Given the description of an element on the screen output the (x, y) to click on. 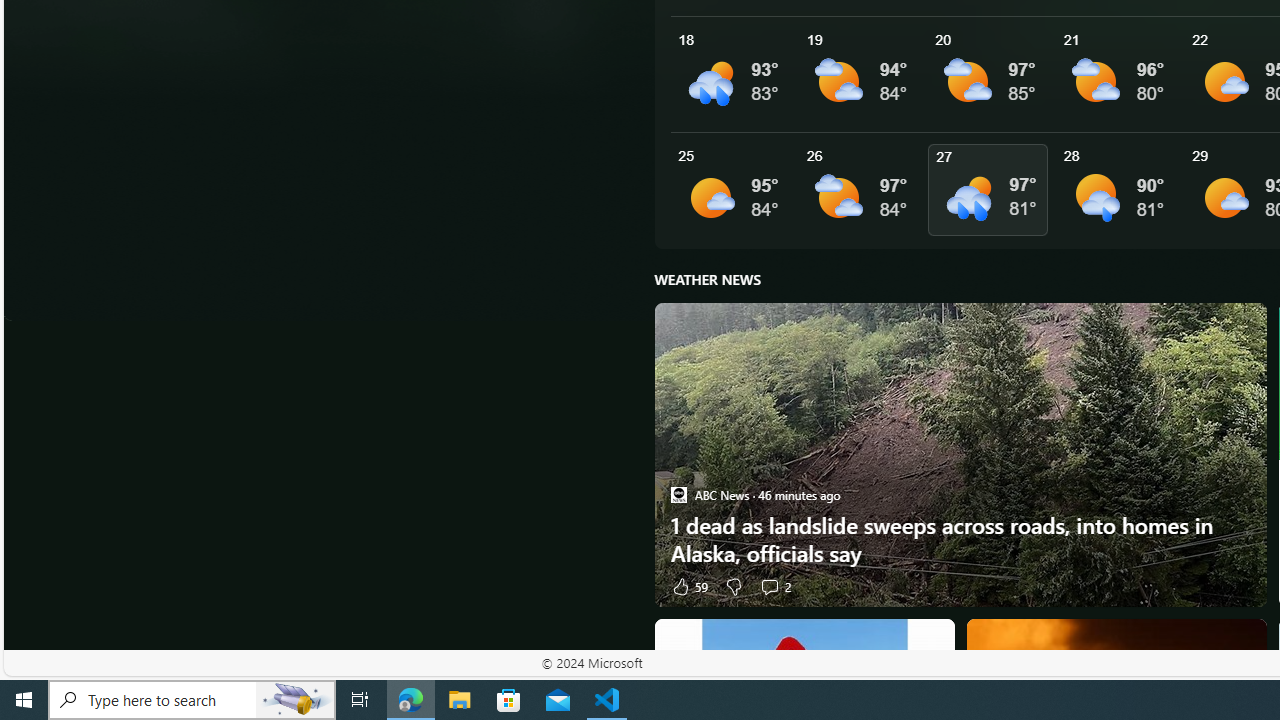
ABC News (678, 494)
59 Like (688, 586)
View comments 2 Comment (769, 586)
